Given the description of an element on the screen output the (x, y) to click on. 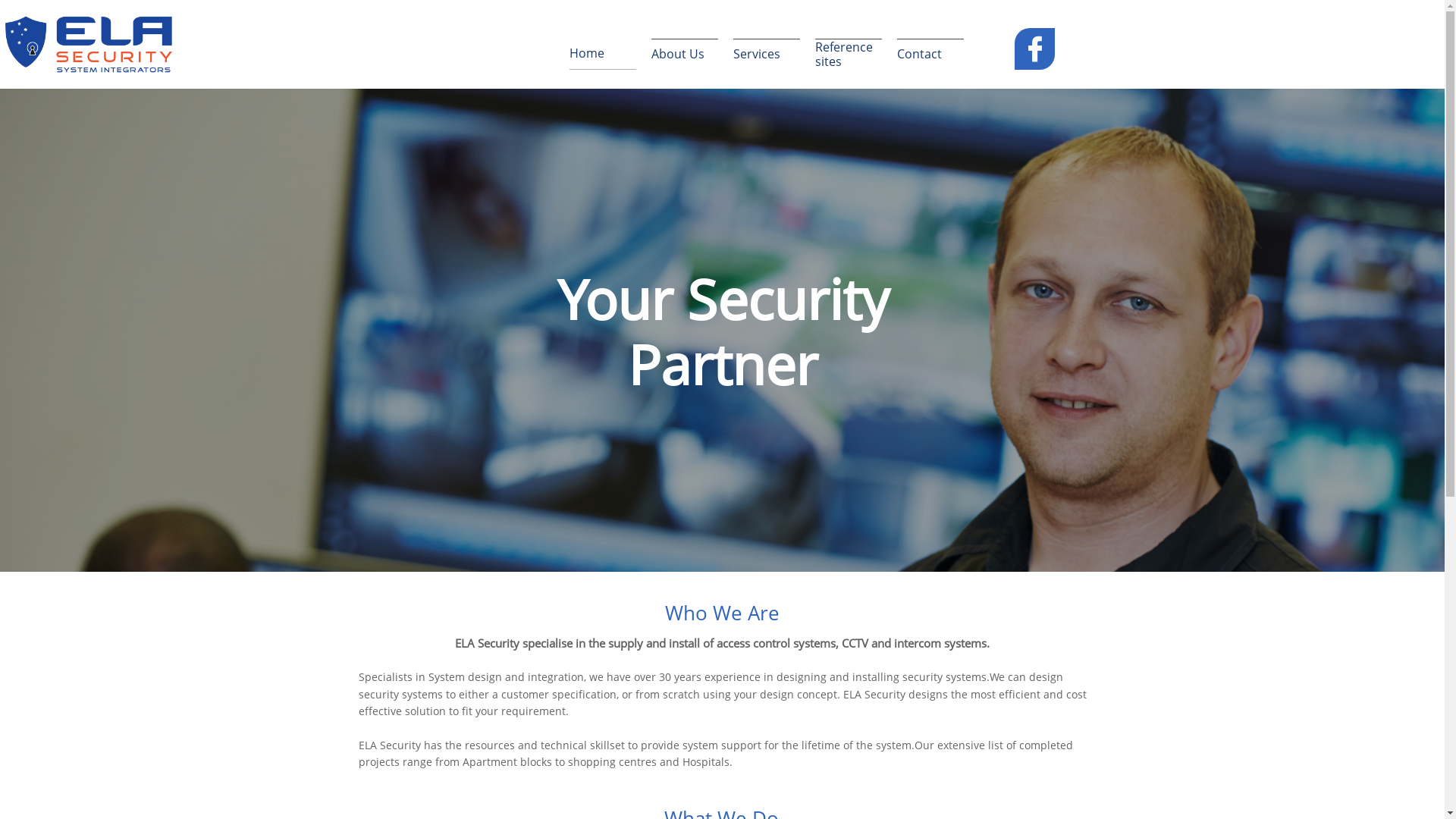
Reference sites Element type: text (847, 53)
Home Element type: text (601, 53)
About Us Element type: text (683, 53)
Services Element type: text (765, 53)
Contact Element type: text (929, 53)
